Given the description of an element on the screen output the (x, y) to click on. 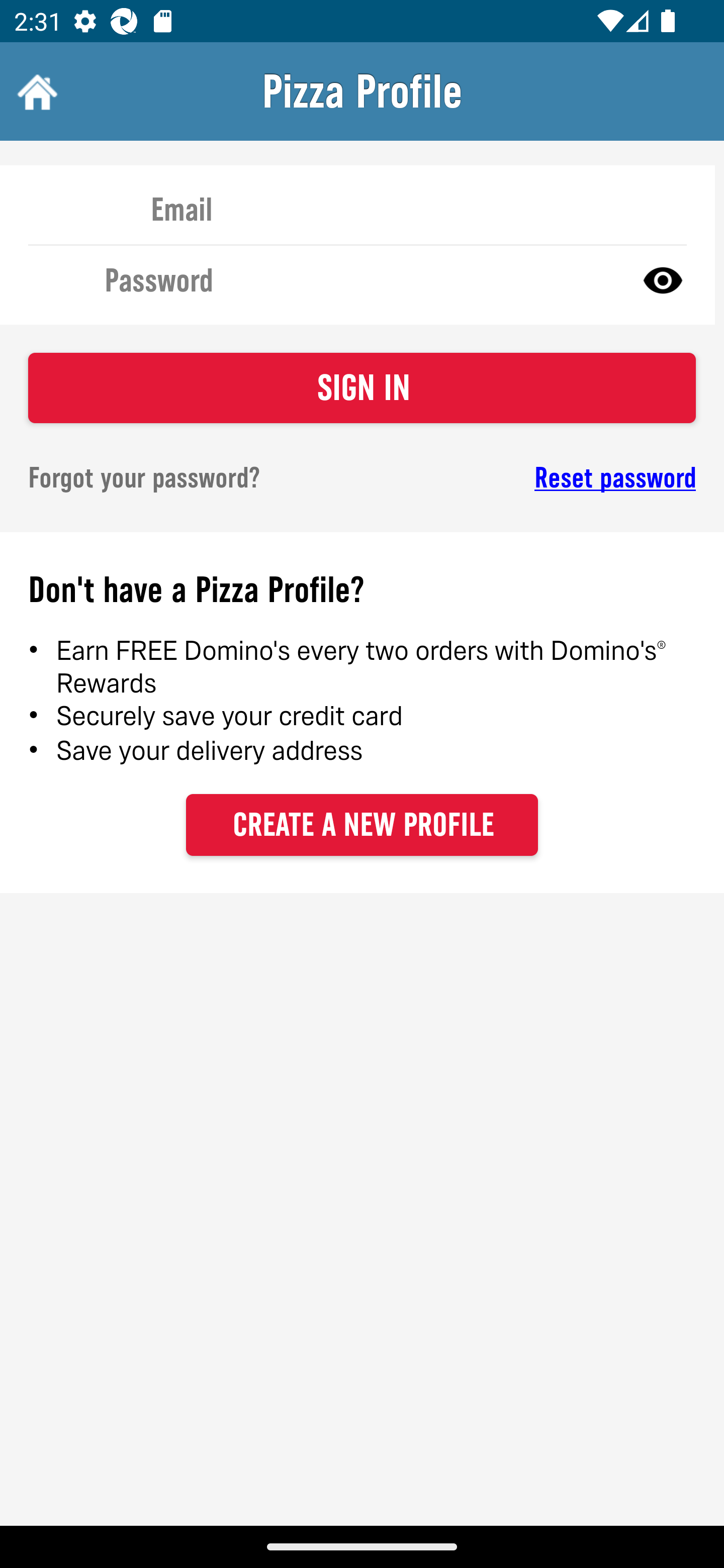
Home (35, 91)
Show Password (663, 279)
SIGN IN (361, 387)
Reset password (545, 477)
CREATE A NEW PROFILE (361, 824)
